Given the description of an element on the screen output the (x, y) to click on. 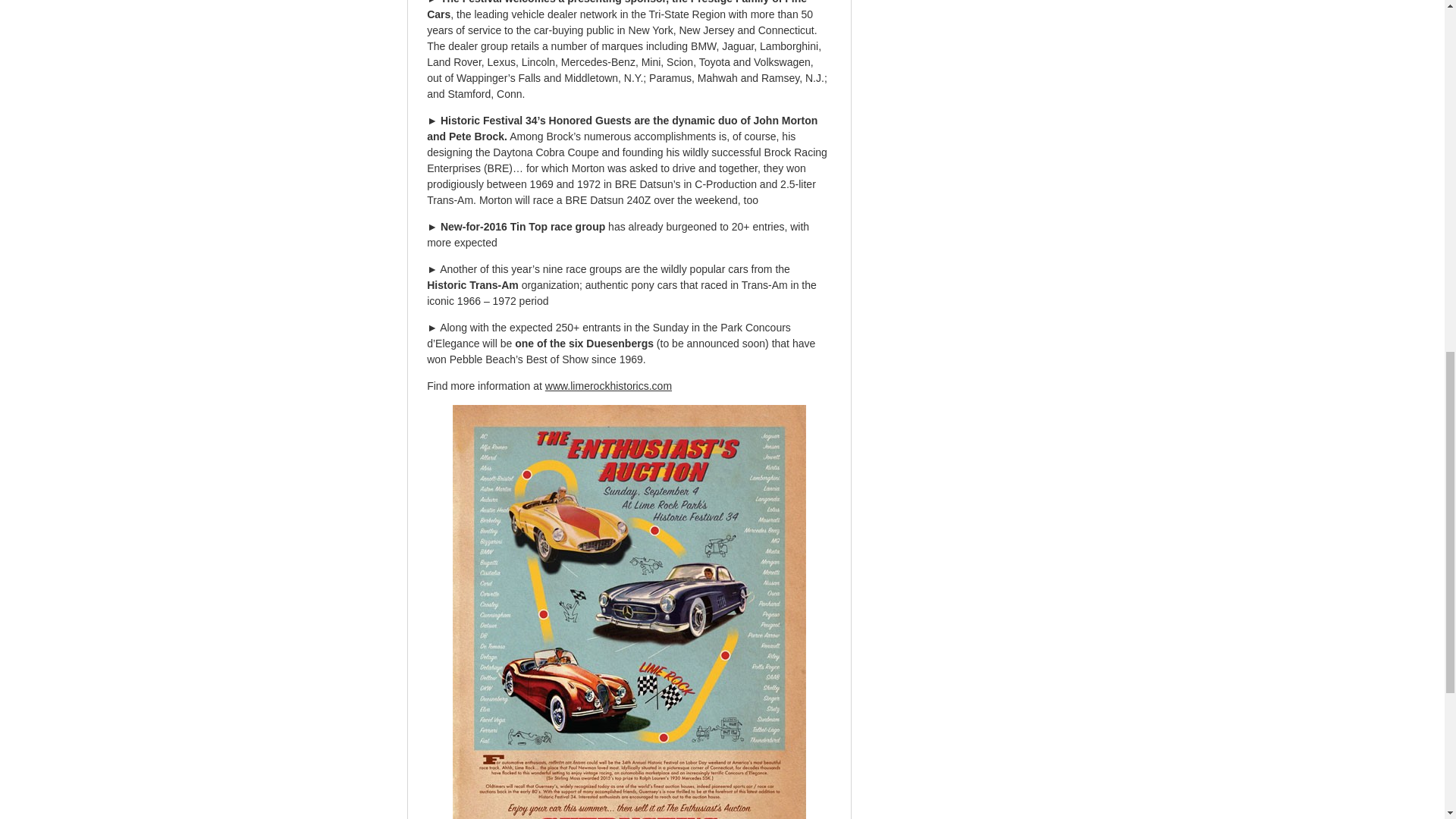
www.limerockhistorics.com (607, 386)
